Given the description of an element on the screen output the (x, y) to click on. 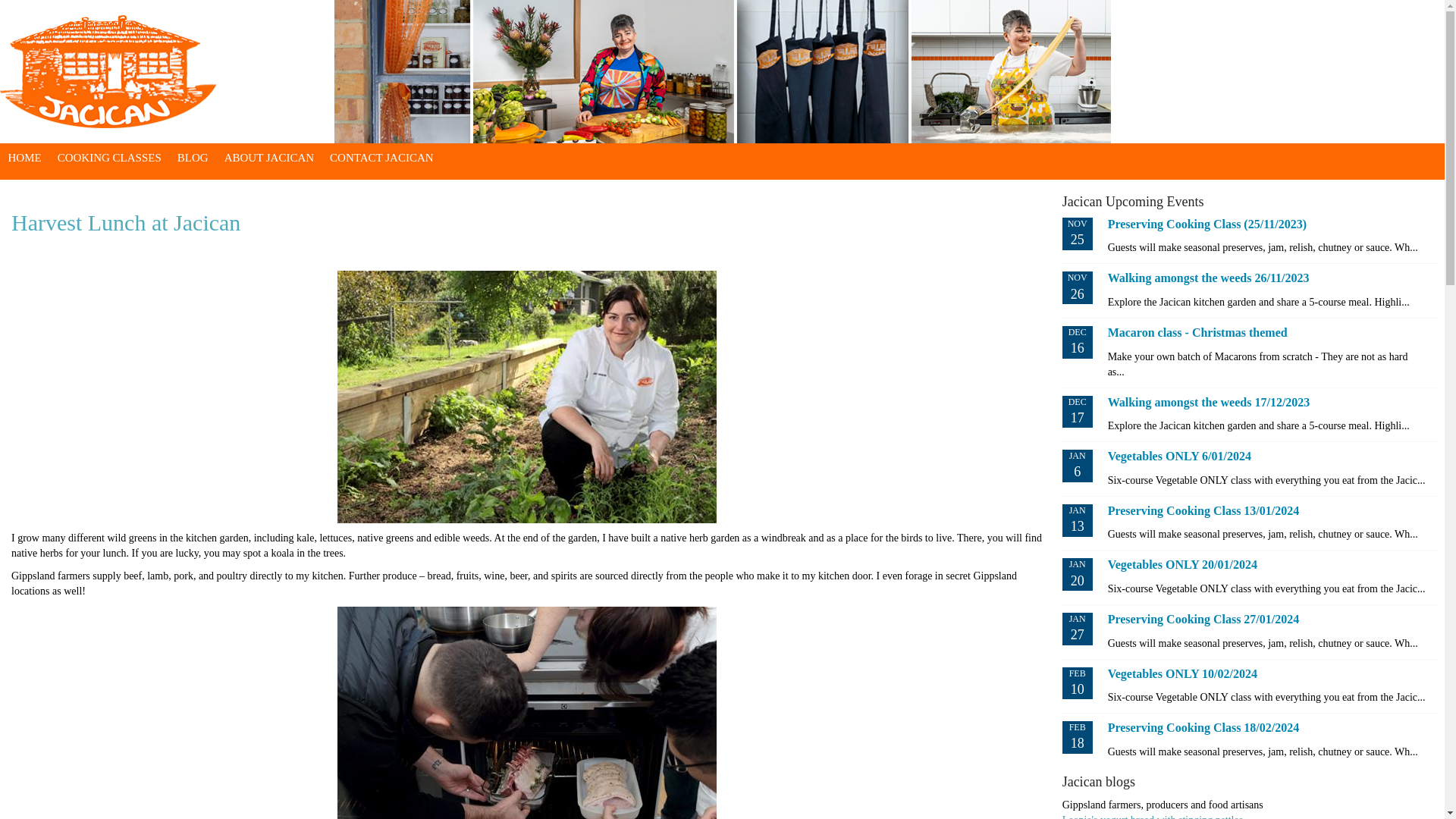
HOME Element type: text (24, 158)
Walking amongst the weeds 26/11/2023 Element type: text (1208, 279)
Preserving Cooking Class 18/02/2024 Element type: text (1203, 729)
Macaron class - Christmas themed Element type: text (1197, 334)
ABOUT JACICAN Element type: text (268, 158)
Vegetables ONLY 20/01/2024 Element type: text (1182, 566)
Preserving Cooking Class (25/11/2023) Element type: text (1206, 225)
Harvest Lunch at Jacican Element type: text (125, 222)
Preserving Cooking Class 27/01/2024 Element type: text (1203, 620)
Vegetables ONLY 6/01/2024 Element type: text (1179, 457)
Walking amongst the weeds 17/12/2023 Element type: text (1208, 403)
BLOG Element type: text (192, 158)
Jacican Element type: hover (108, 71)
CONTACT JACICAN Element type: text (381, 158)
COOKING CLASSES Element type: text (109, 158)
Vegetables ONLY 10/02/2024 Element type: text (1182, 675)
Preserving Cooking Class 13/01/2024 Element type: text (1203, 512)
